Given the description of an element on the screen output the (x, y) to click on. 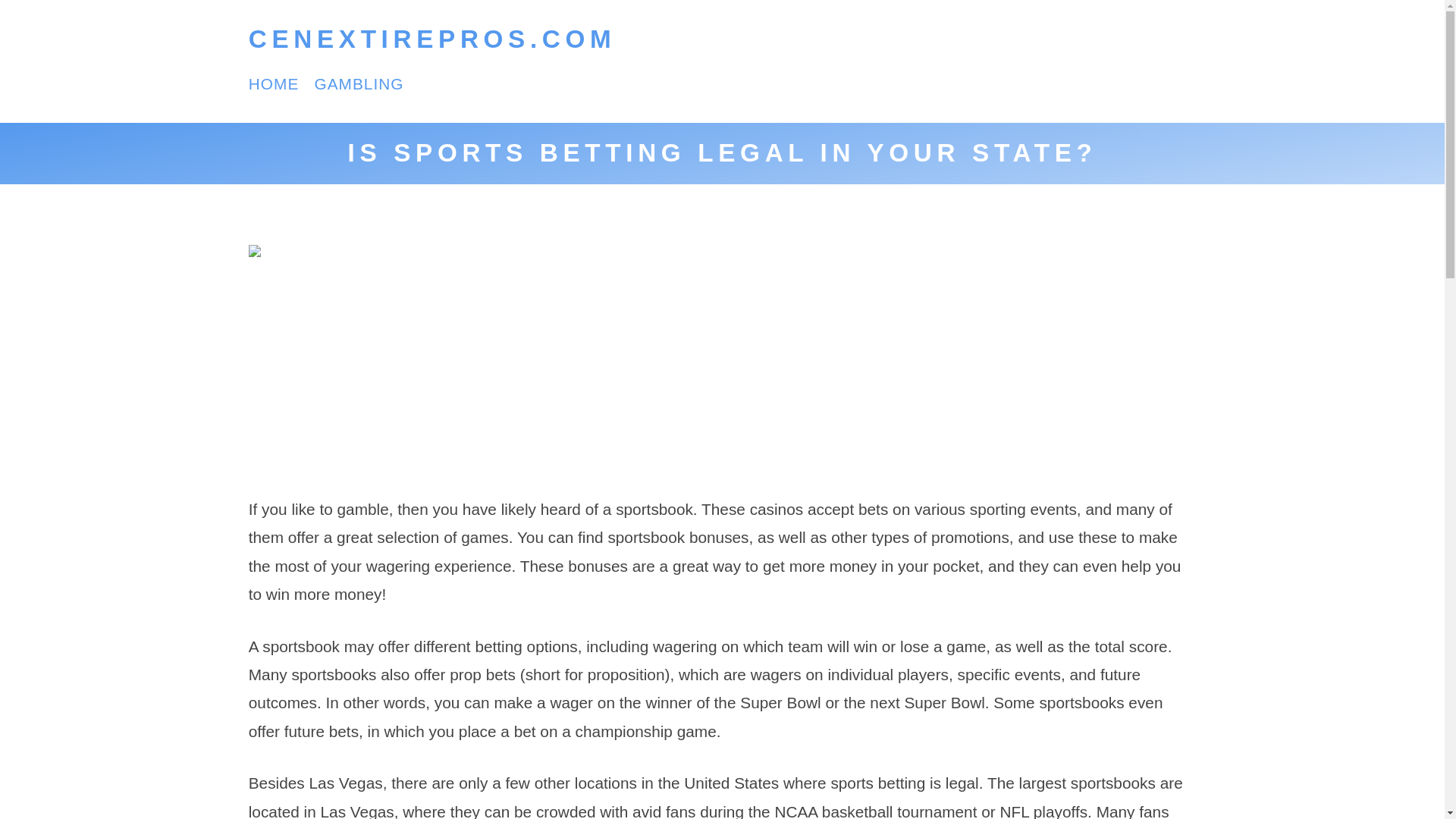
GAMBLING (358, 83)
HOME (273, 83)
CENEXTIREPROS.COM (431, 39)
